Given the description of an element on the screen output the (x, y) to click on. 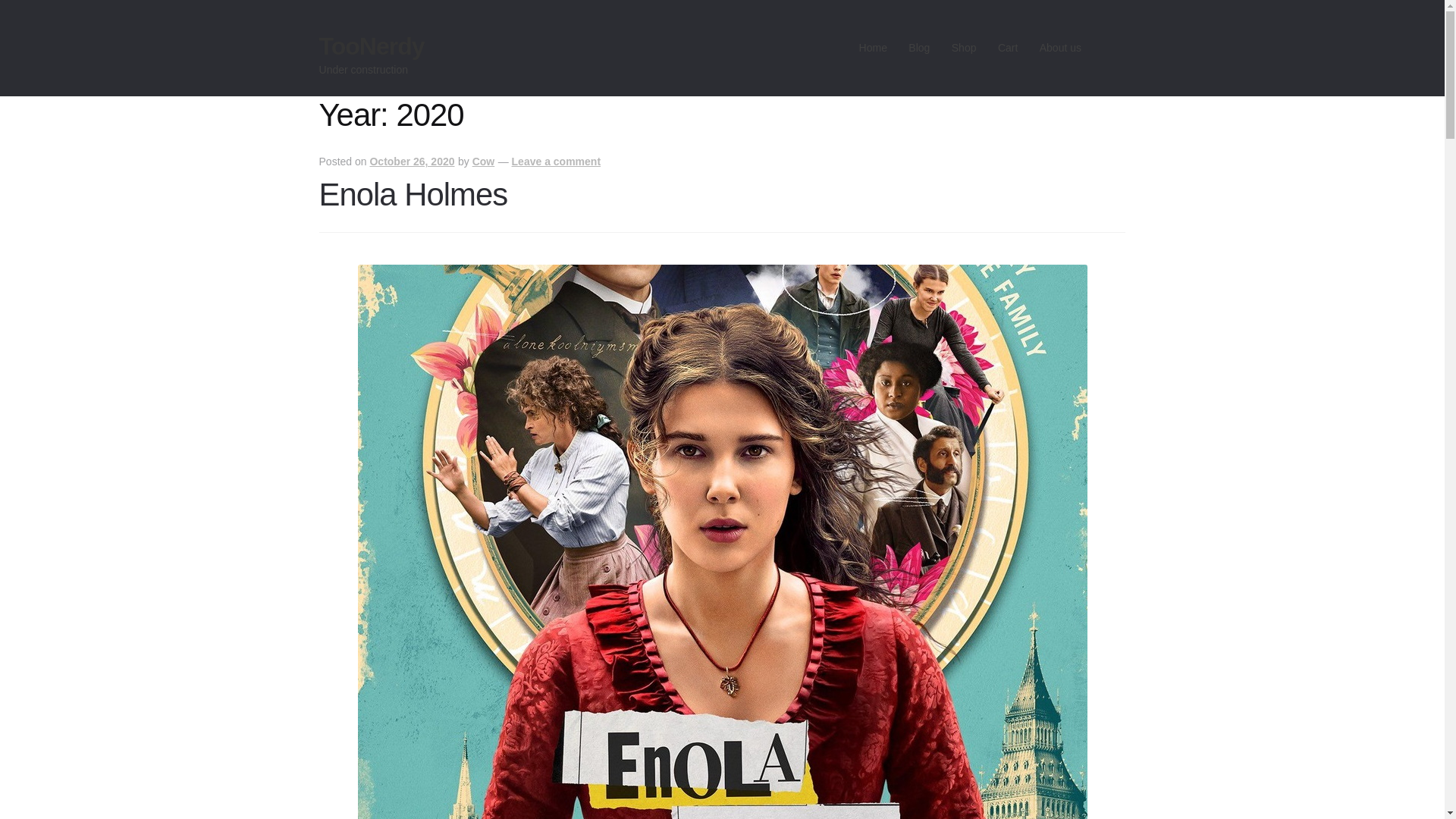
Shop (963, 47)
Home (872, 47)
Blog (919, 47)
Cart (1007, 47)
TooNerdy (371, 45)
About us (1059, 47)
